Given the description of an element on the screen output the (x, y) to click on. 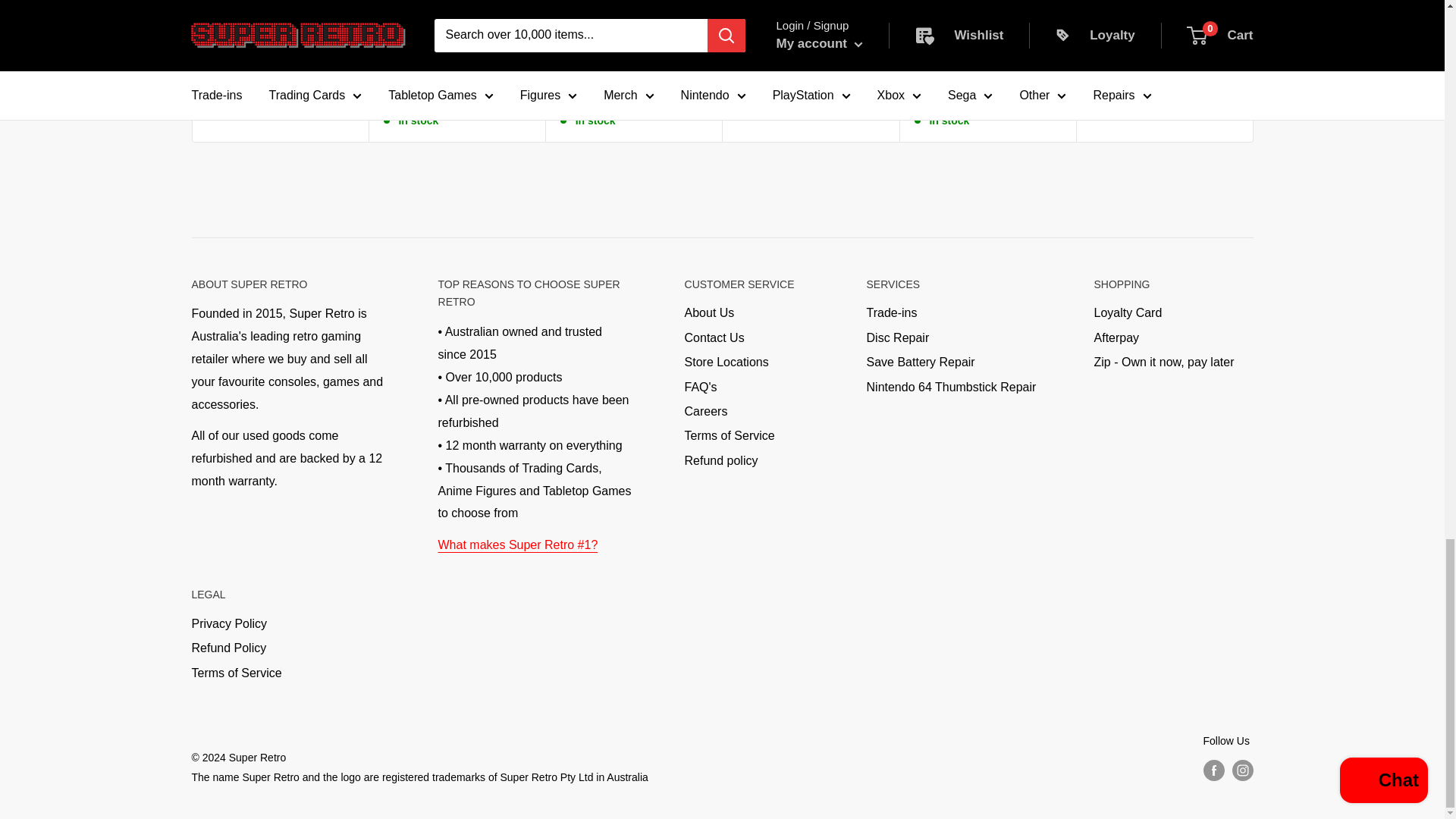
Why Choose Super Retro (518, 543)
